Given the description of an element on the screen output the (x, y) to click on. 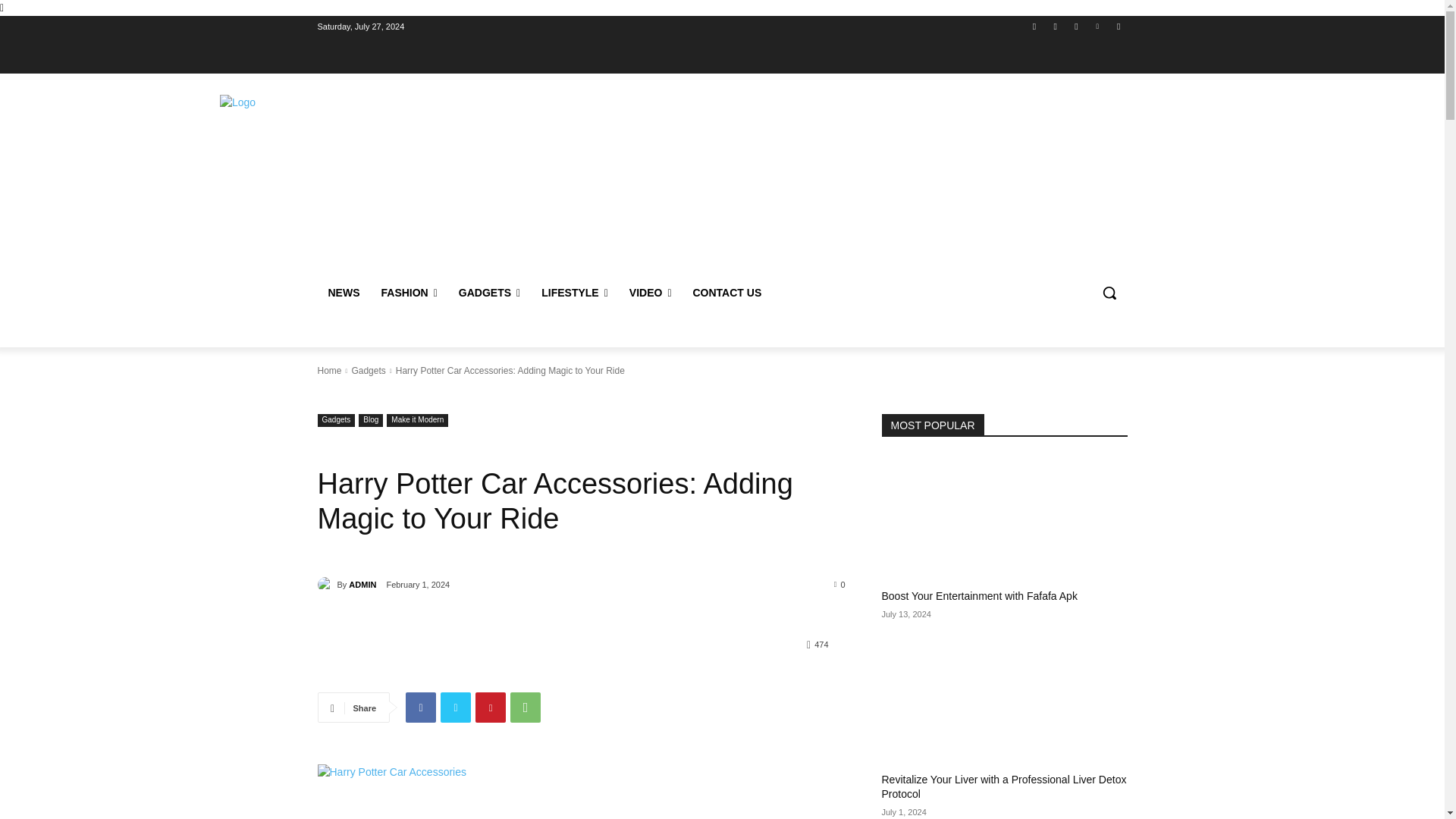
Youtube (1117, 27)
Instagram (1055, 27)
GADGETS (489, 292)
FASHION (407, 292)
Twitter (1075, 27)
NEWS (343, 292)
Vimeo (1097, 27)
Facebook (1034, 27)
